Given the description of an element on the screen output the (x, y) to click on. 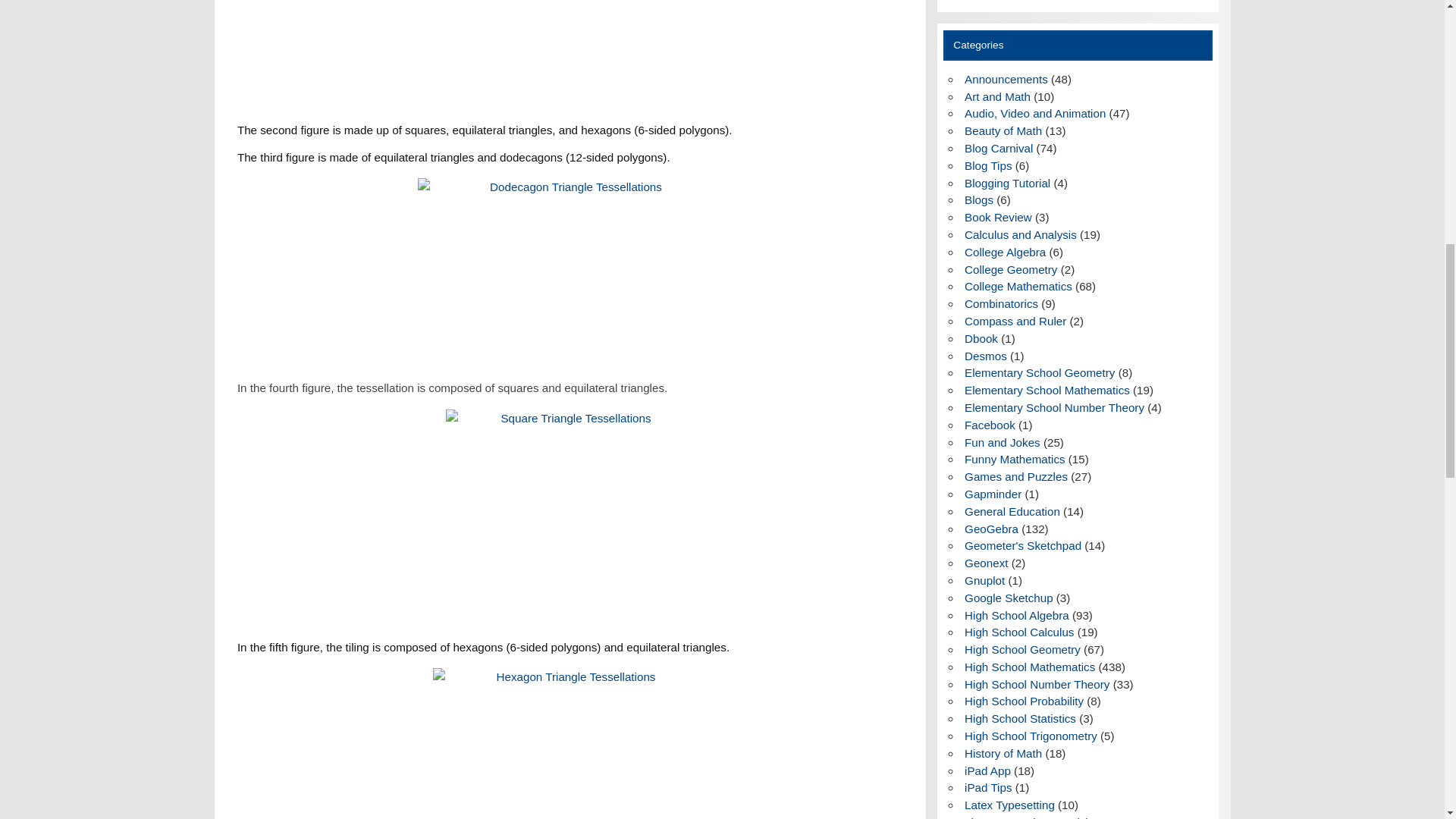
Dodecagon Triangle Tessellation (569, 272)
Hexagon Triangle Tessellation (569, 743)
Square Triangle Tessellation (569, 518)
